Given the description of an element on the screen output the (x, y) to click on. 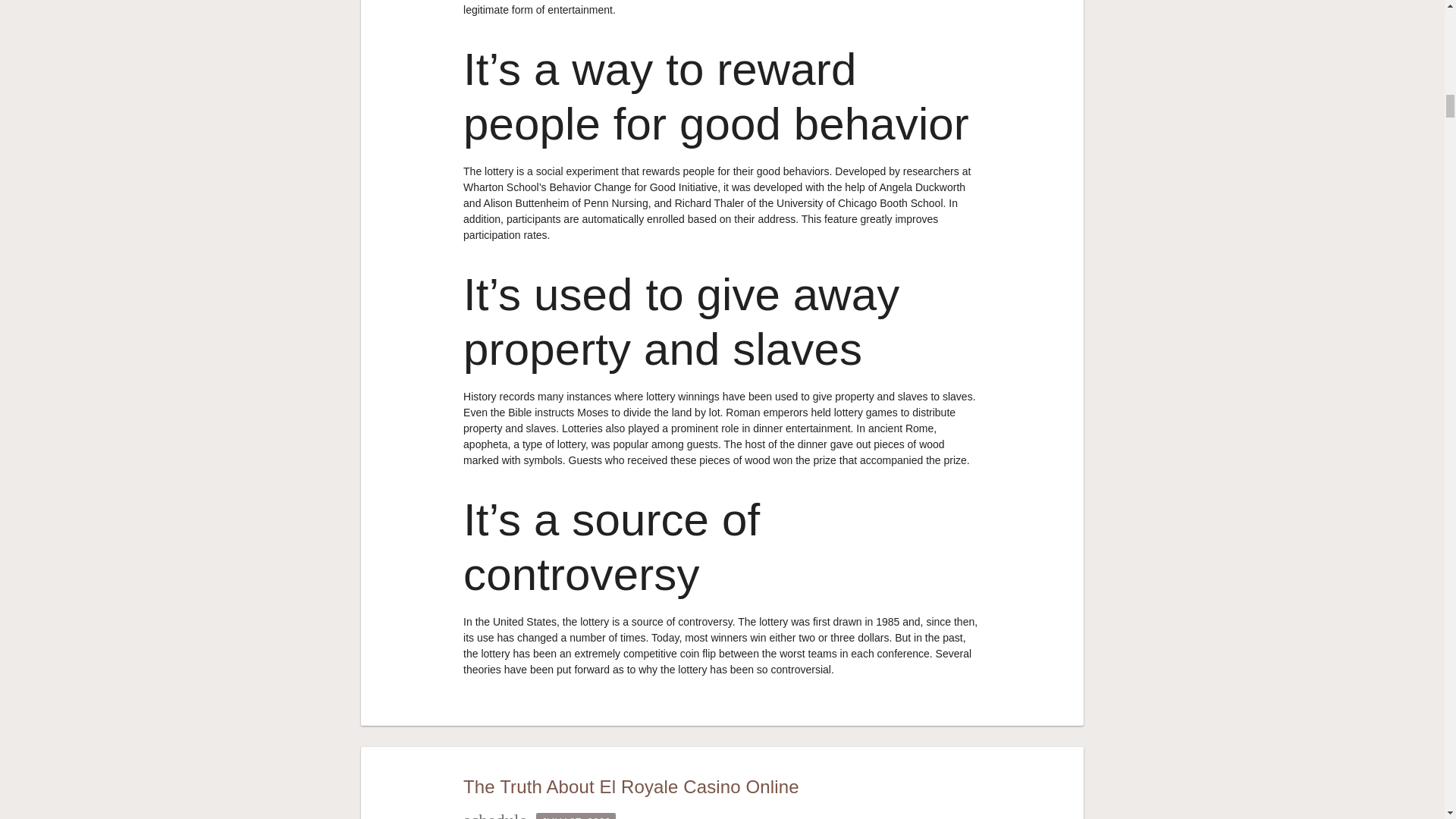
JULY 27, 2022 (575, 816)
The Truth About El Royale Casino Online (631, 786)
